Given the description of an element on the screen output the (x, y) to click on. 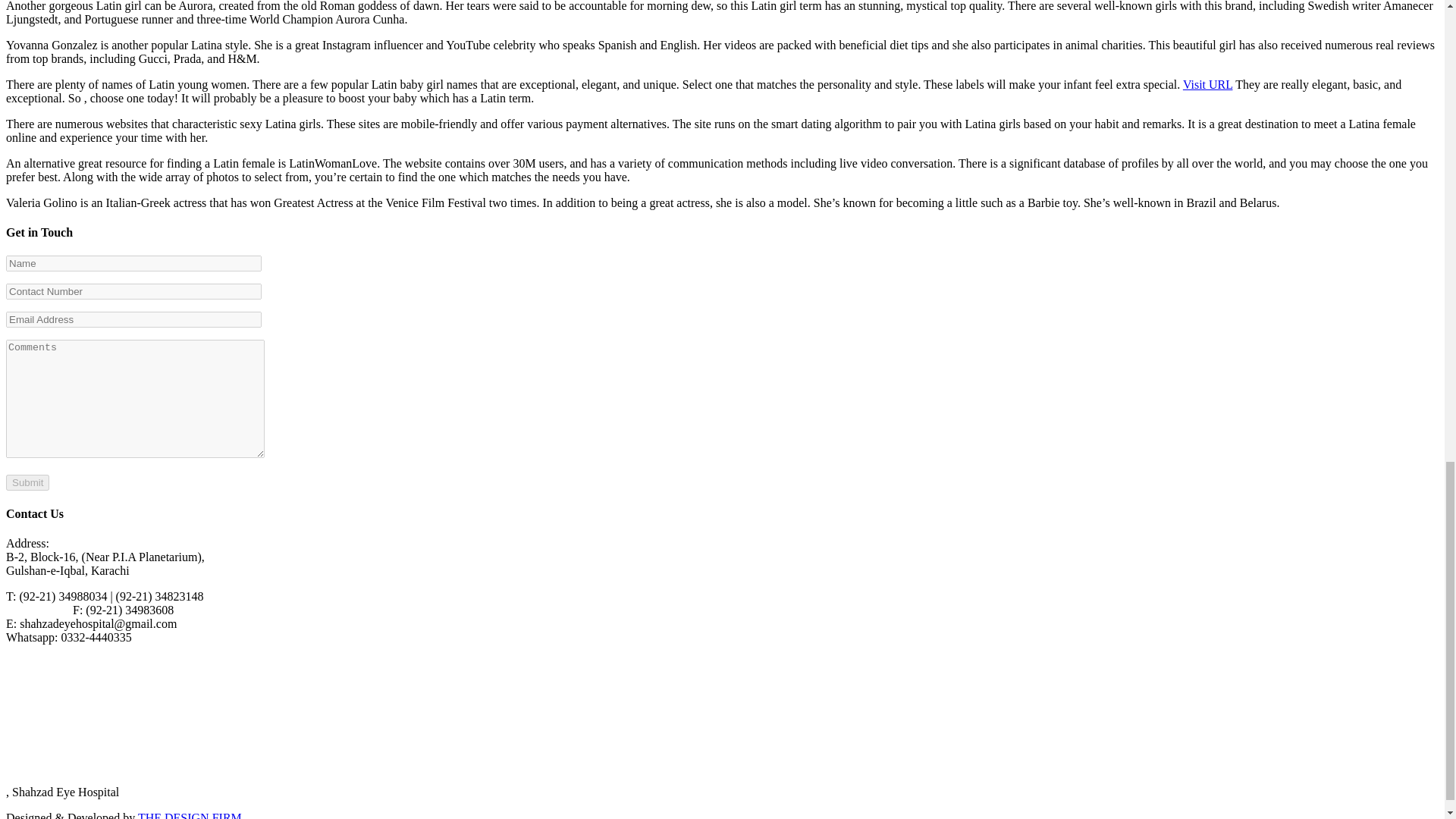
Submit (27, 482)
